Given the description of an element on the screen output the (x, y) to click on. 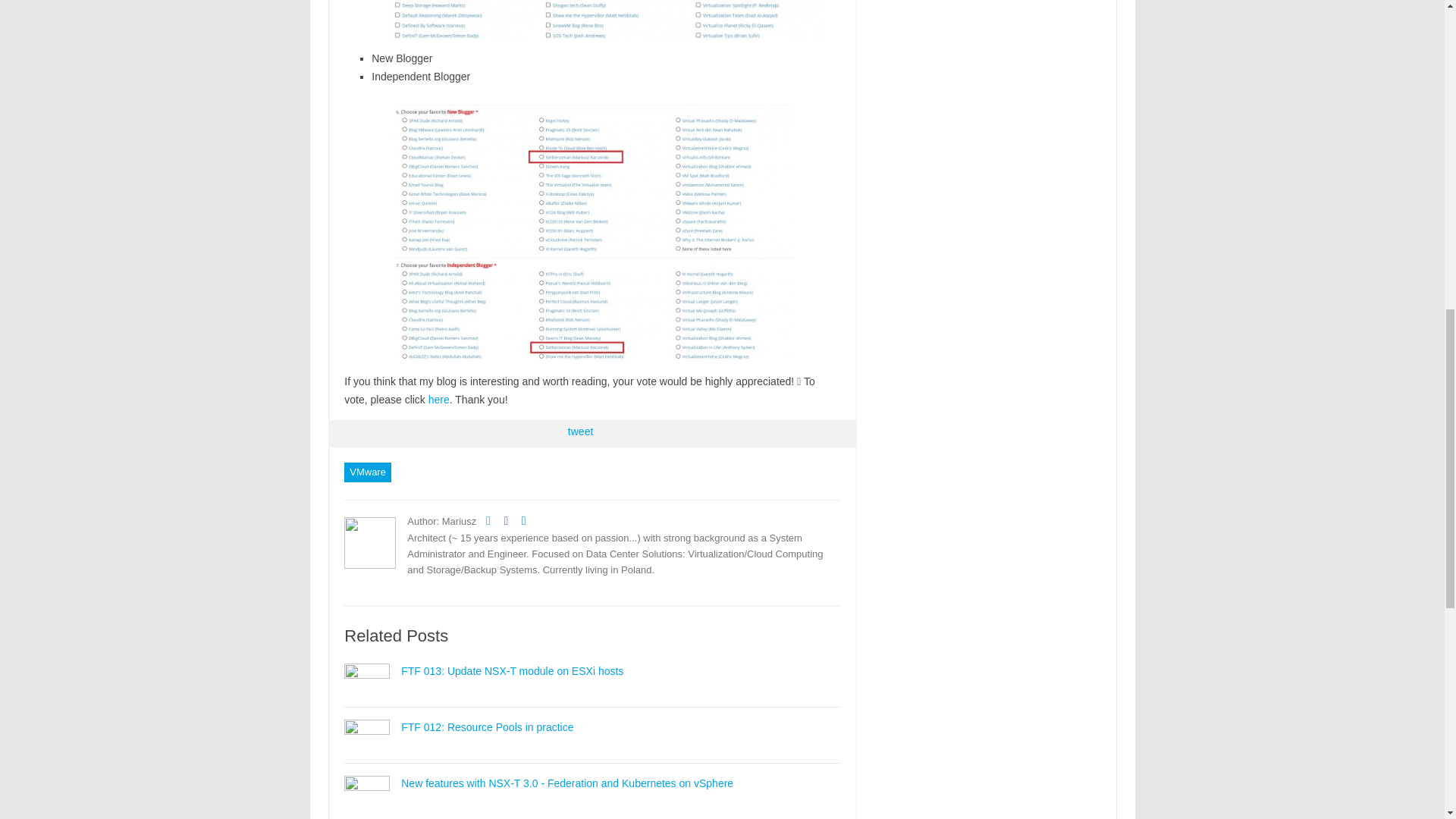
FTF 012: Resource Pools in practice (487, 727)
here (438, 399)
FTF 013: Update NSX-T module on ESXi hosts (512, 671)
FTF 012: Resource Pools in practice (366, 730)
FTF 013: Update NSX-T module on ESXi hosts (512, 671)
FTF 012: Resource Pools in practice (487, 727)
FTF 013: Update NSX-T module on ESXi hosts (366, 674)
